Given the description of an element on the screen output the (x, y) to click on. 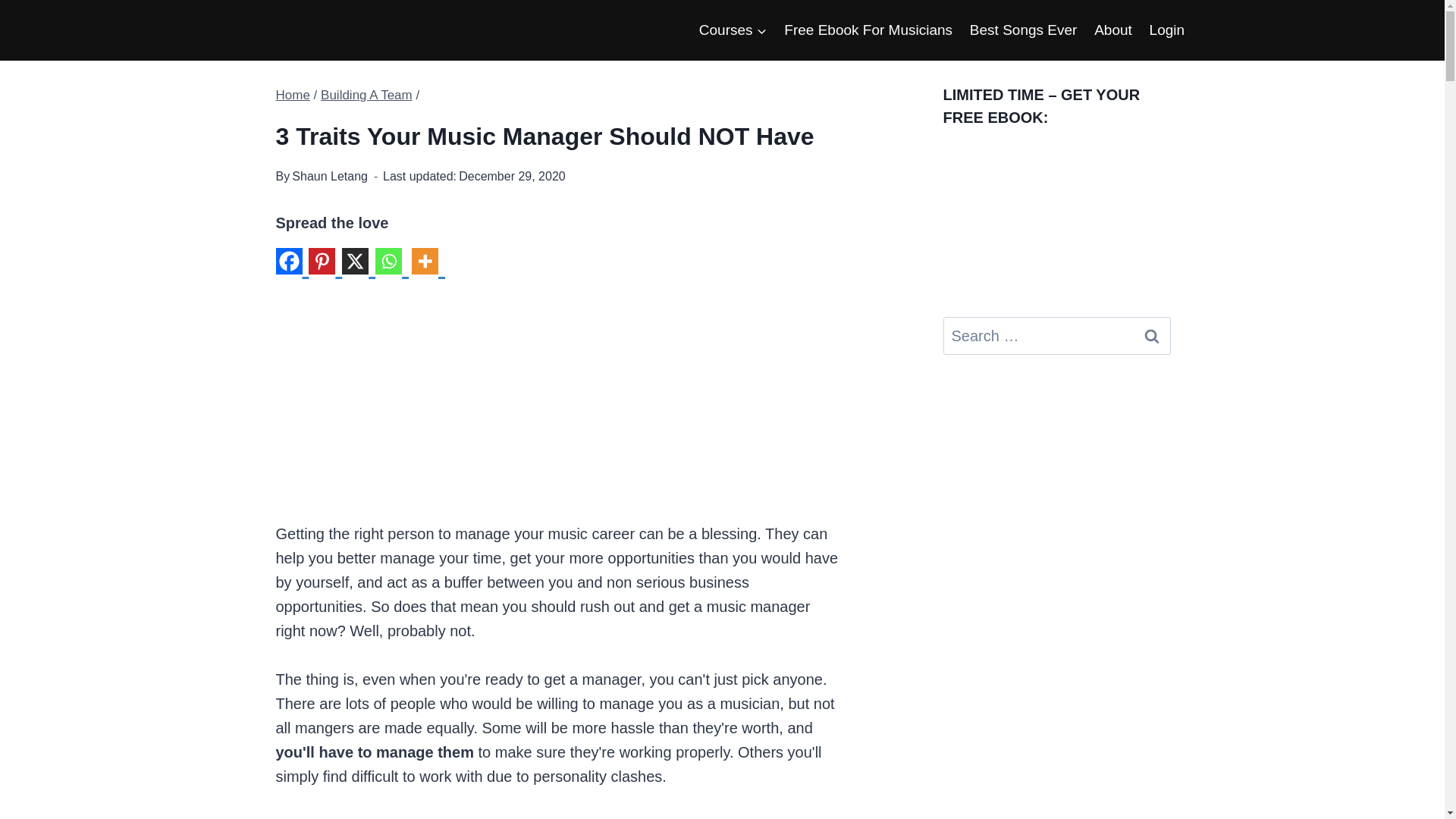
Search (1151, 335)
Courses (733, 29)
More (428, 267)
Login (1166, 29)
Best Songs Ever (1022, 29)
Search (1151, 335)
Building A Team (366, 94)
find a music manager (489, 817)
About (1113, 29)
